Given the description of an element on the screen output the (x, y) to click on. 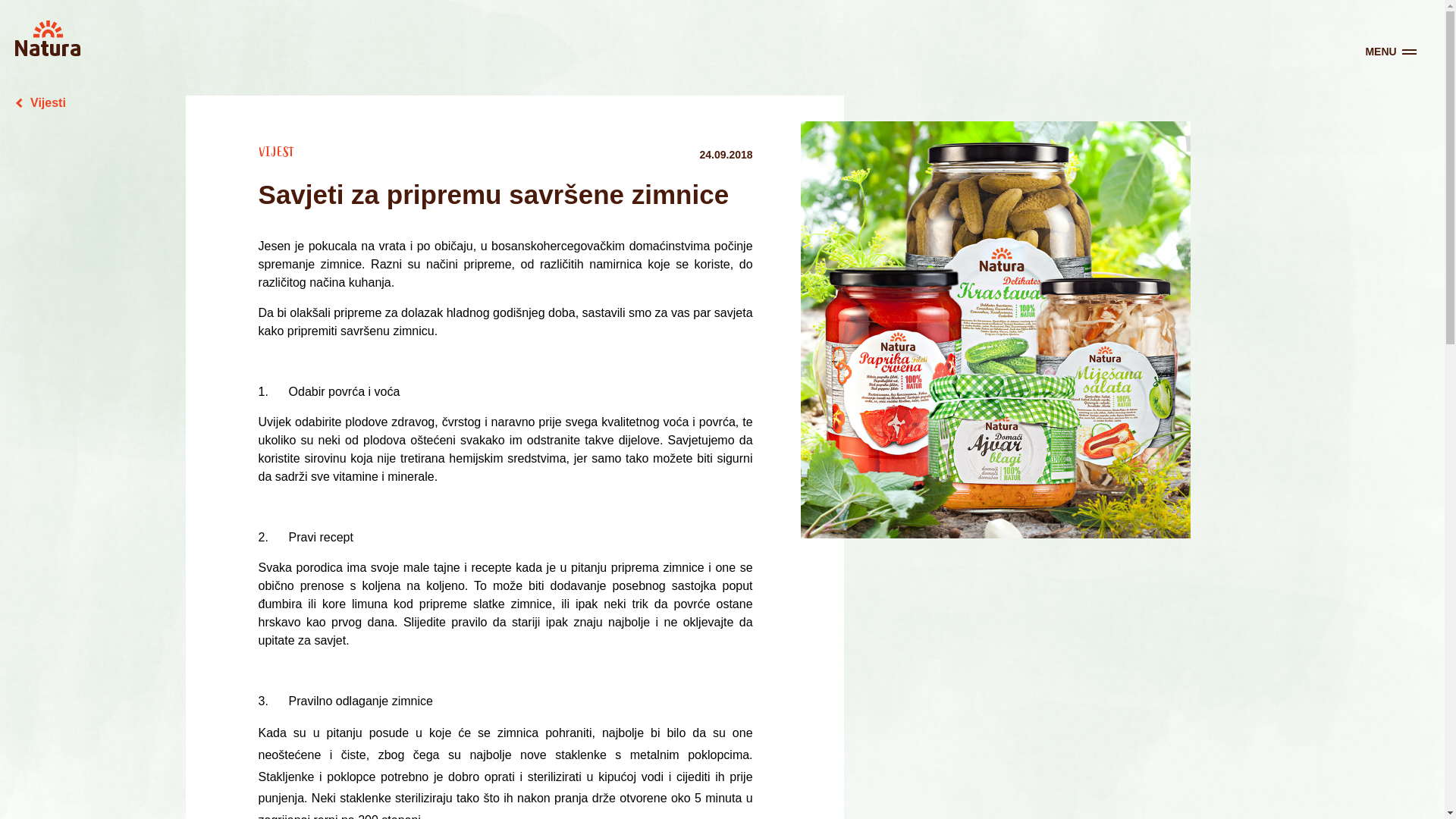
Vijesti Element type: text (40, 103)
